Given the description of an element on the screen output the (x, y) to click on. 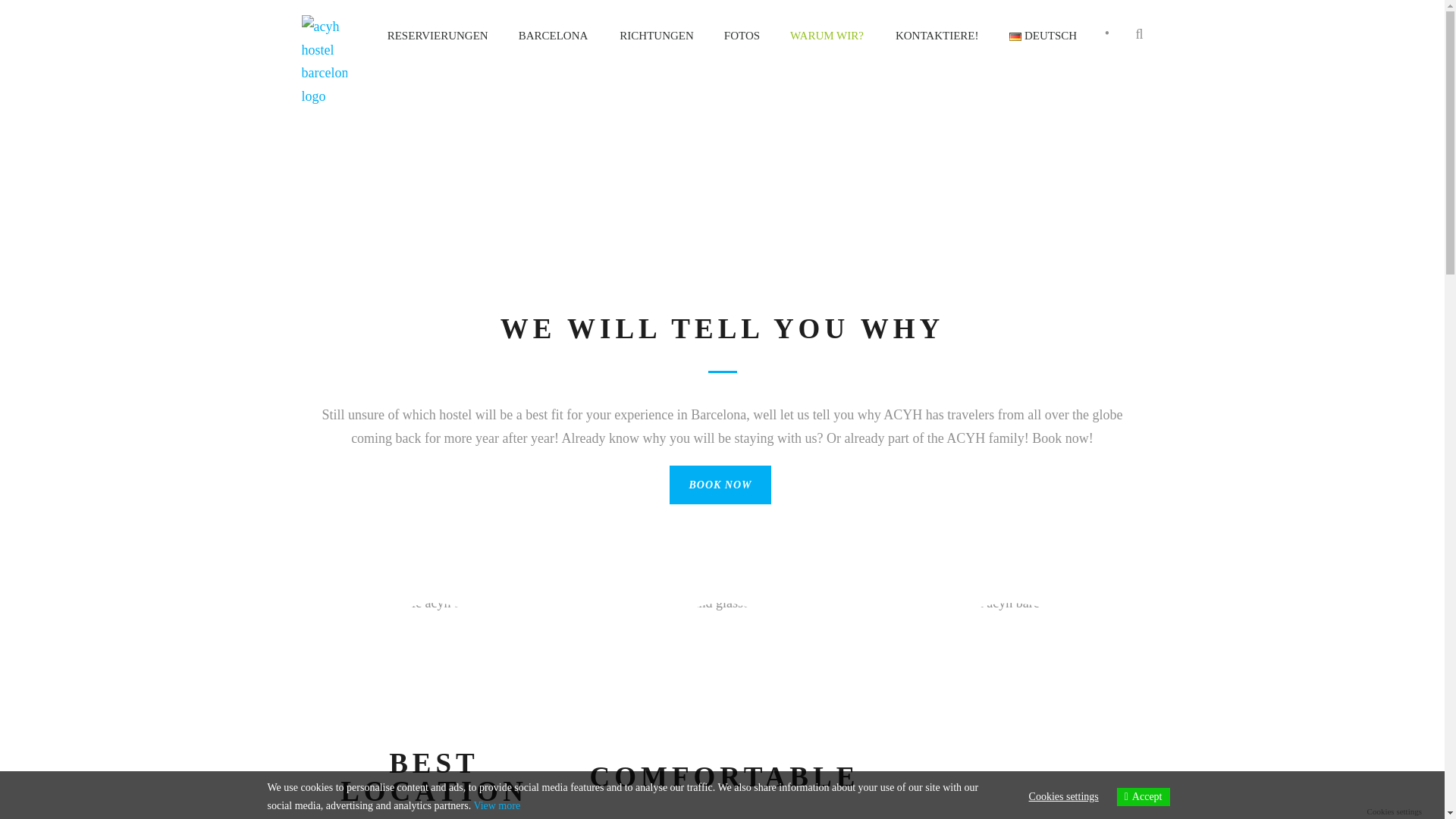
RESERVIERUNGEN (445, 53)
BARCELONA (554, 53)
